Given the description of an element on the screen output the (x, y) to click on. 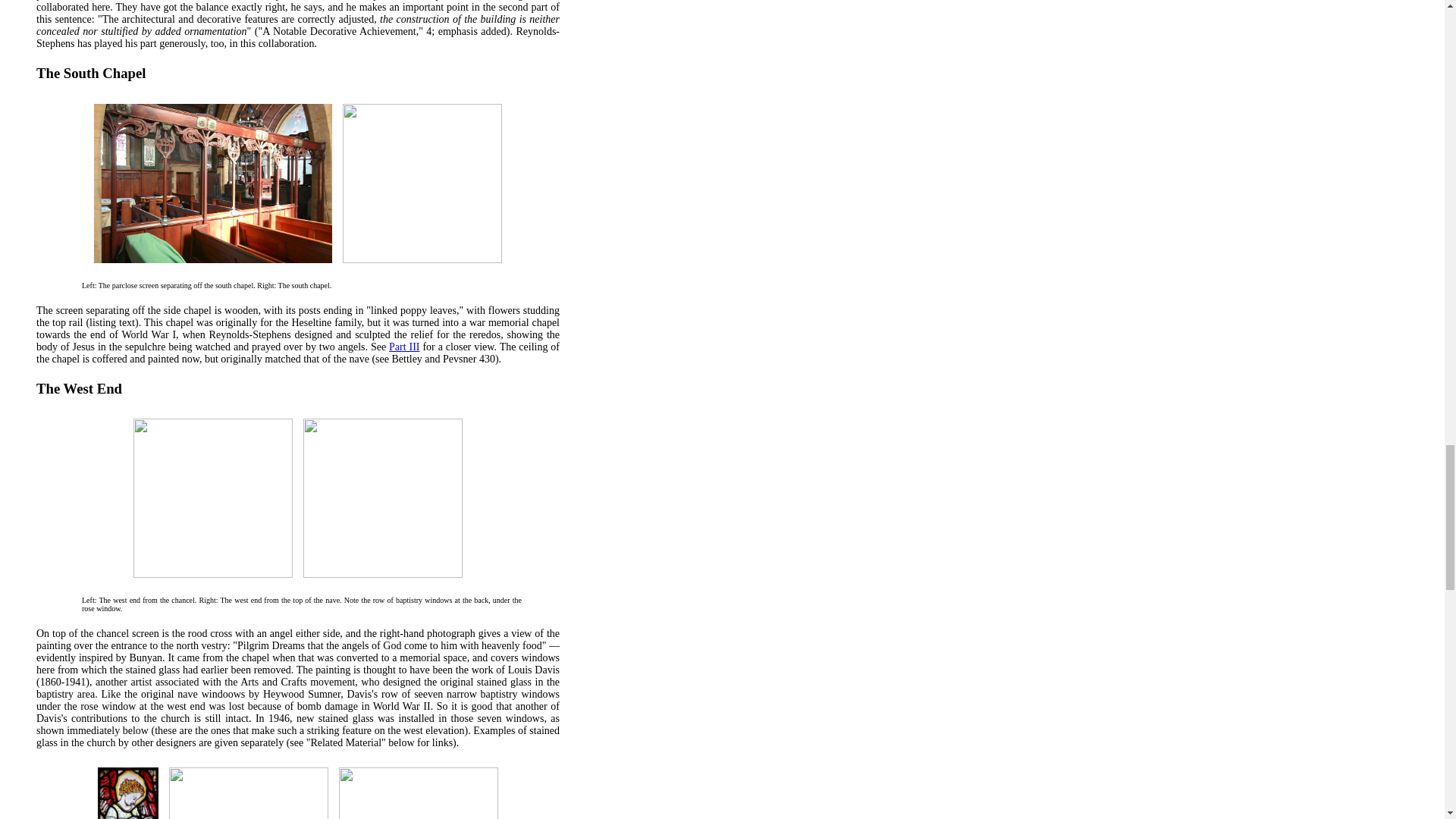
Part III (403, 346)
